Given the description of an element on the screen output the (x, y) to click on. 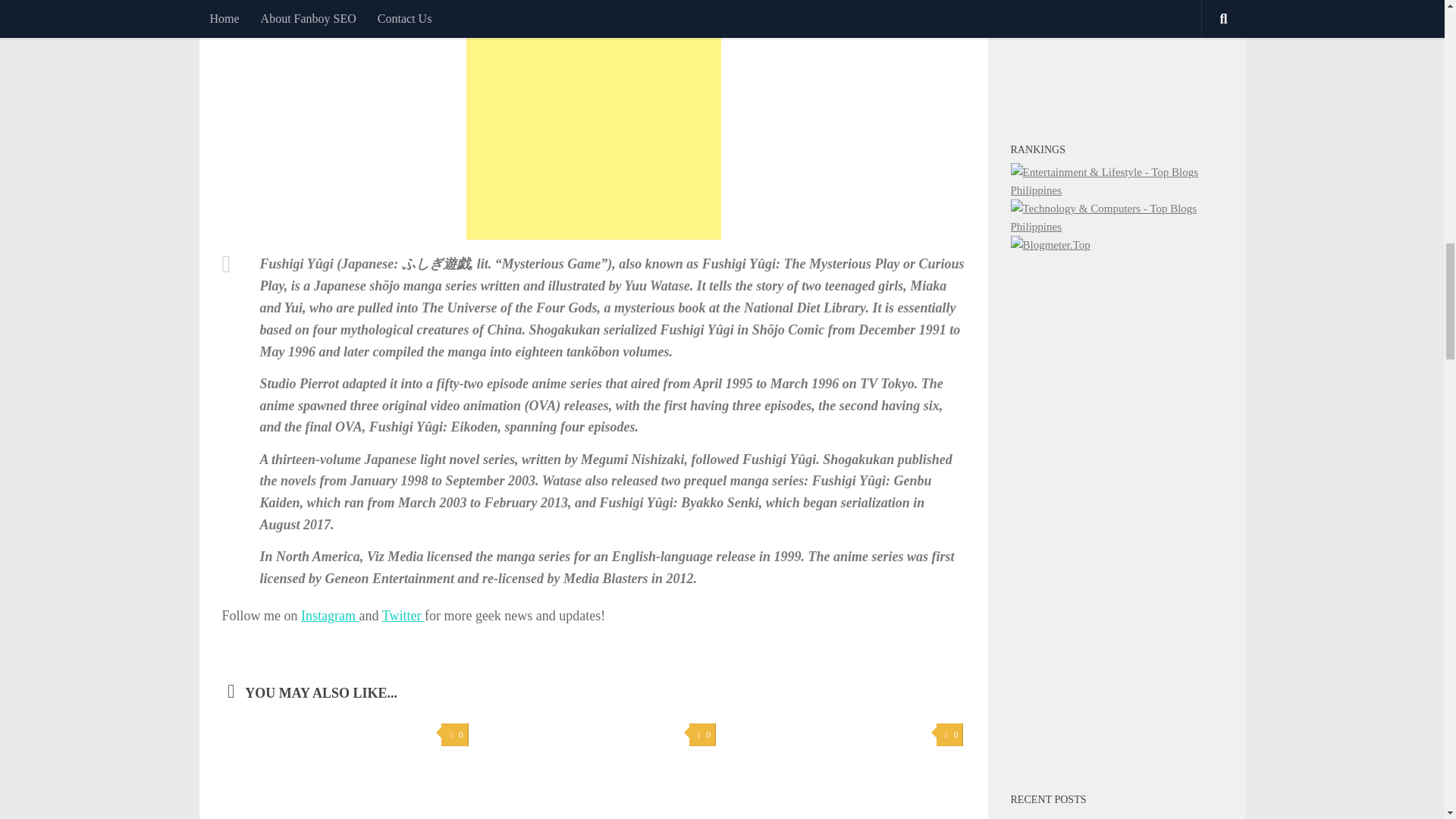
Twitter (403, 615)
Instagram (329, 615)
0 (702, 734)
0 (454, 734)
